Given the description of an element on the screen output the (x, y) to click on. 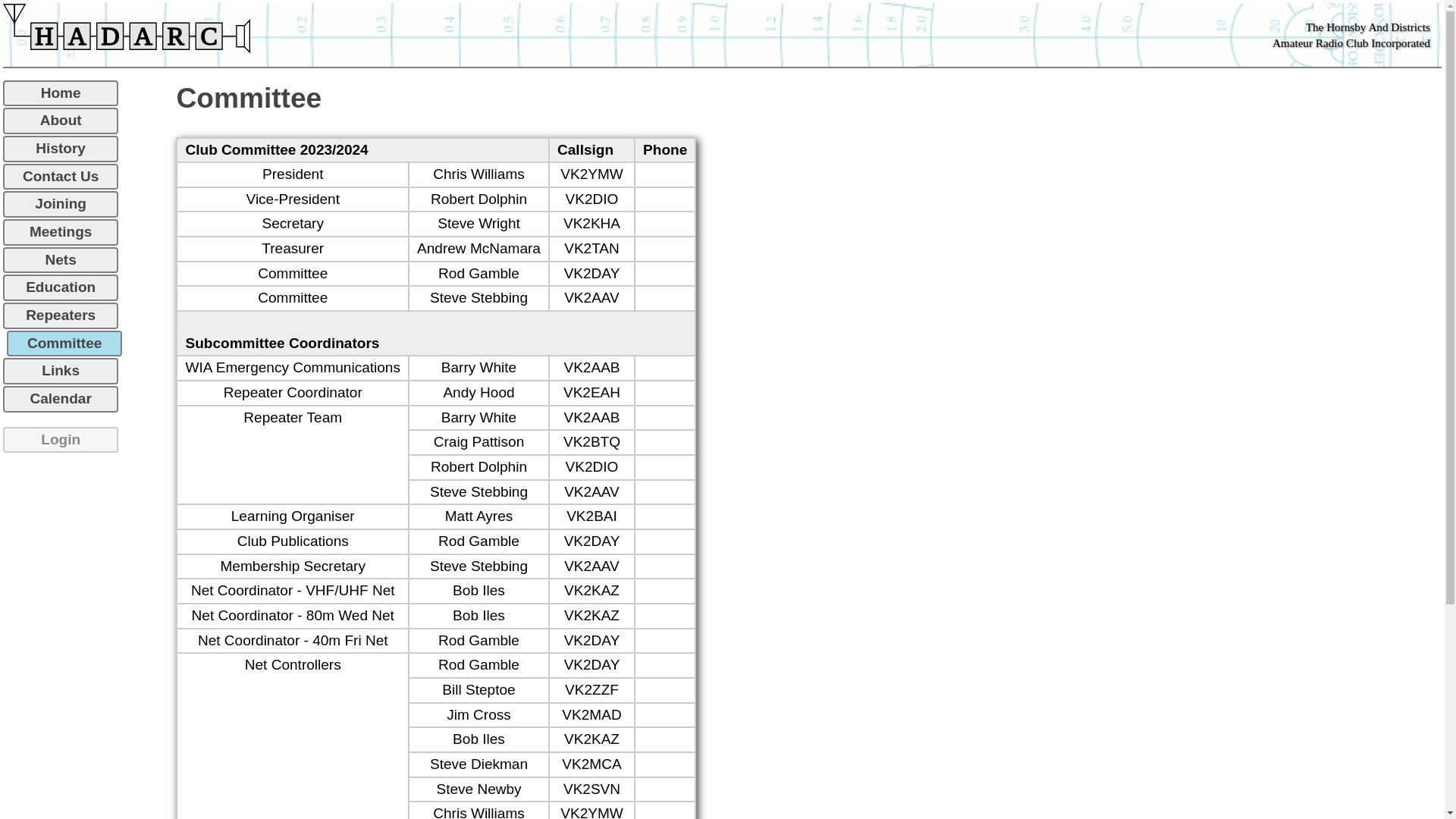
Nets Element type: text (60, 260)
Contact Us Element type: text (60, 176)
Home Element type: text (60, 93)
Links Element type: text (60, 370)
Education Element type: text (60, 287)
Meetings Element type: text (60, 232)
History Element type: text (60, 148)
Calendar Element type: text (60, 398)
Repeaters Element type: text (60, 315)
Committee Element type: text (64, 343)
About Element type: text (60, 120)
Login Element type: text (60, 439)
Joining Element type: text (60, 204)
